Given the description of an element on the screen output the (x, y) to click on. 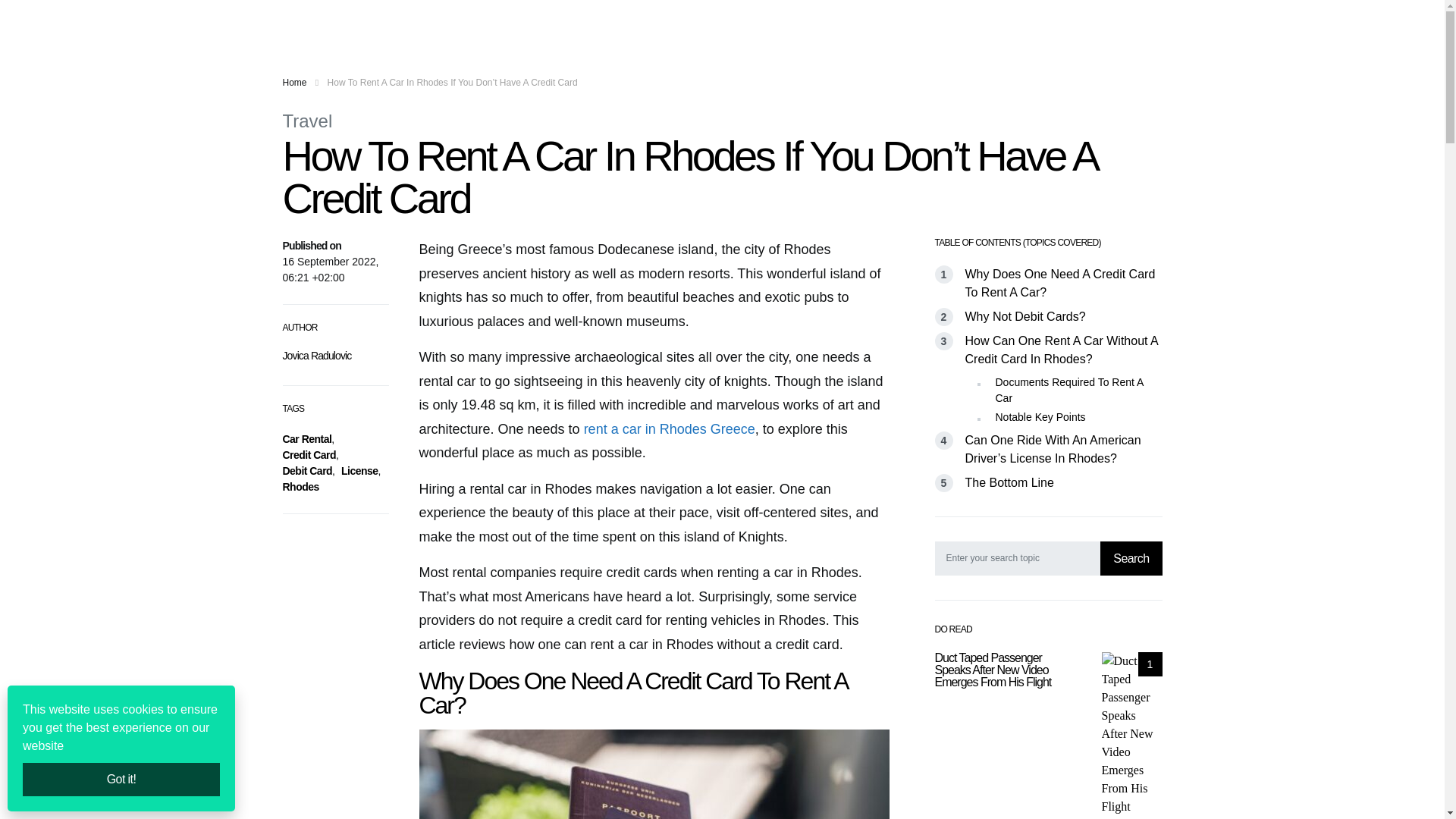
Sitemap (675, 22)
Debit Card (306, 470)
Croatia (519, 22)
Car Rental (306, 439)
Home (293, 81)
Jovica Radulovic (316, 355)
Travel (306, 120)
License (359, 470)
Privacy Policy (616, 22)
Credit Card (309, 454)
rent a car in Rhodes Greece (669, 428)
Rhodes (300, 486)
The Best Place to Travel (357, 22)
